Given the description of an element on the screen output the (x, y) to click on. 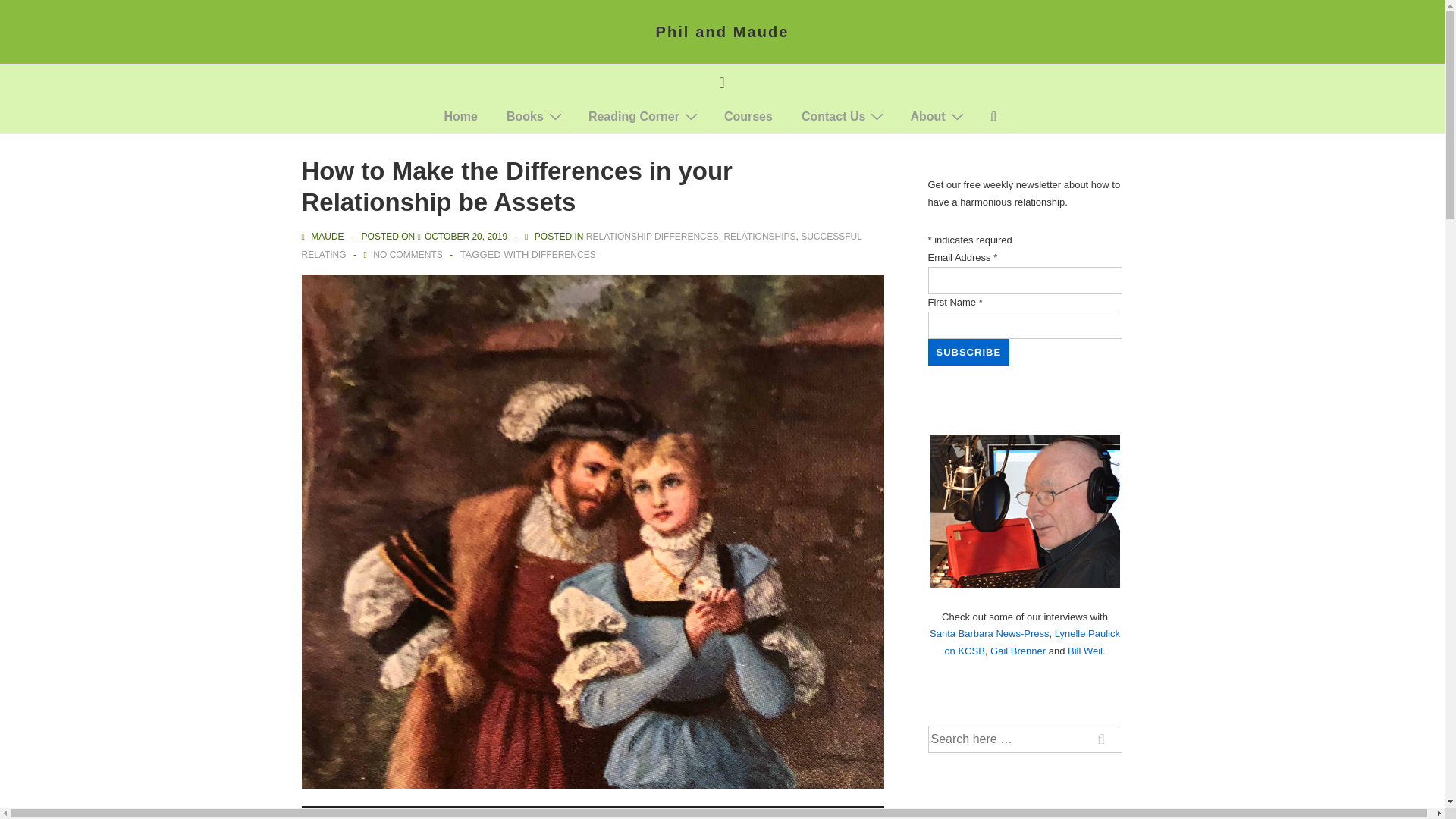
Books (533, 116)
About the authors (935, 116)
Subscribe (969, 352)
NO COMMENTS (407, 254)
Courses (748, 116)
OCTOBER 20, 2019 (465, 235)
About (935, 116)
Reading Corner (642, 116)
Play (321, 816)
DIFFERENCES (563, 254)
How to Make the Differences in your Relationship be Assets (465, 235)
Write to Phil and Maude (841, 116)
Home (461, 116)
MAUDE (323, 235)
RELATIONSHIPS (758, 235)
